Given the description of an element on the screen output the (x, y) to click on. 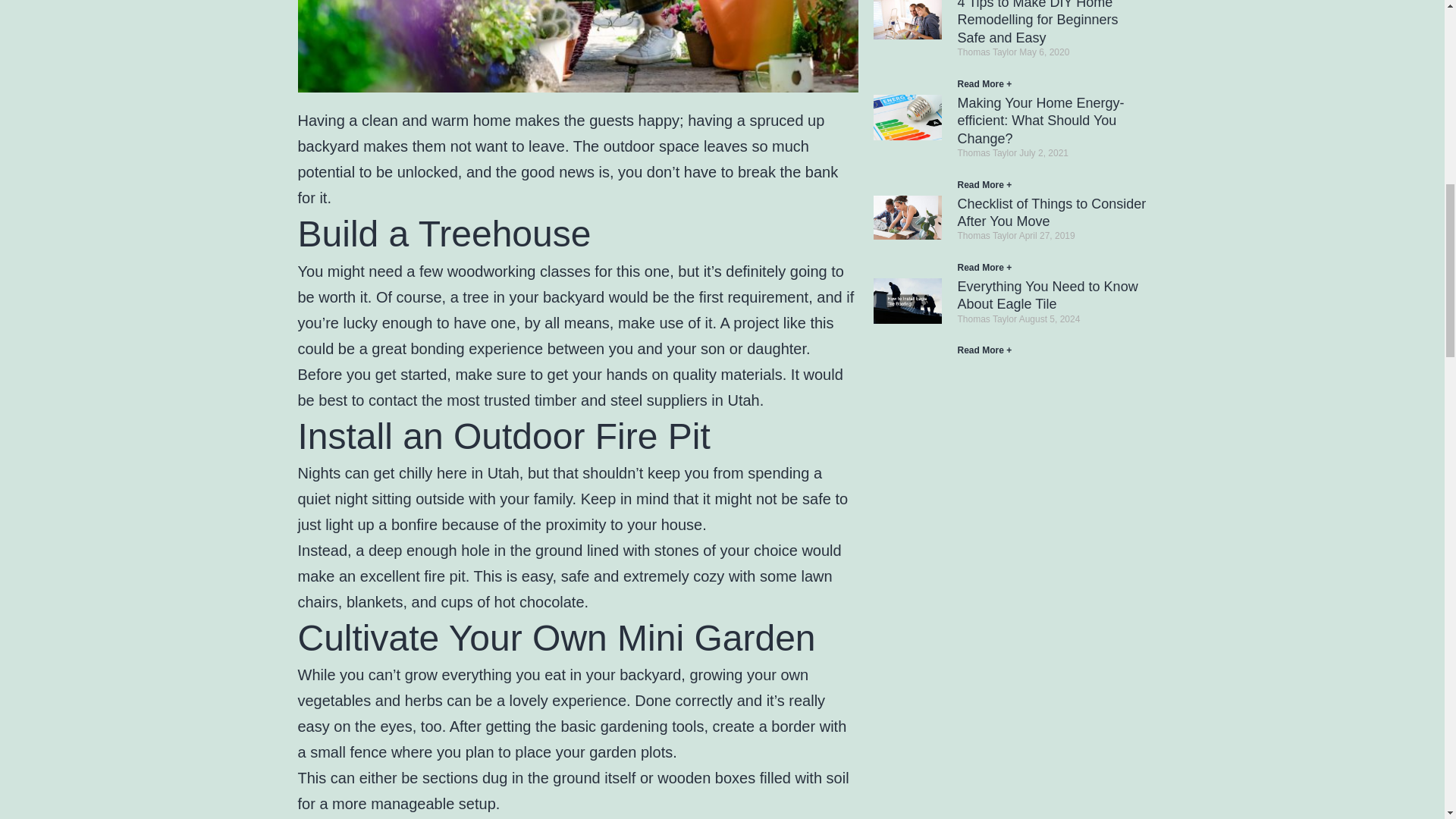
Barber Metals and Fabrication (685, 400)
House Beautiful (552, 159)
Making Your Home Energy-efficient: What Should You Change? (1040, 120)
steel suppliers in Utah (685, 400)
spruced up backyard (560, 133)
so much potential to be unlocked (552, 159)
Everything You Need to Know About Eagle Tile (1046, 295)
Checklist of Things to Consider After You Move (1050, 212)
